Given the description of an element on the screen output the (x, y) to click on. 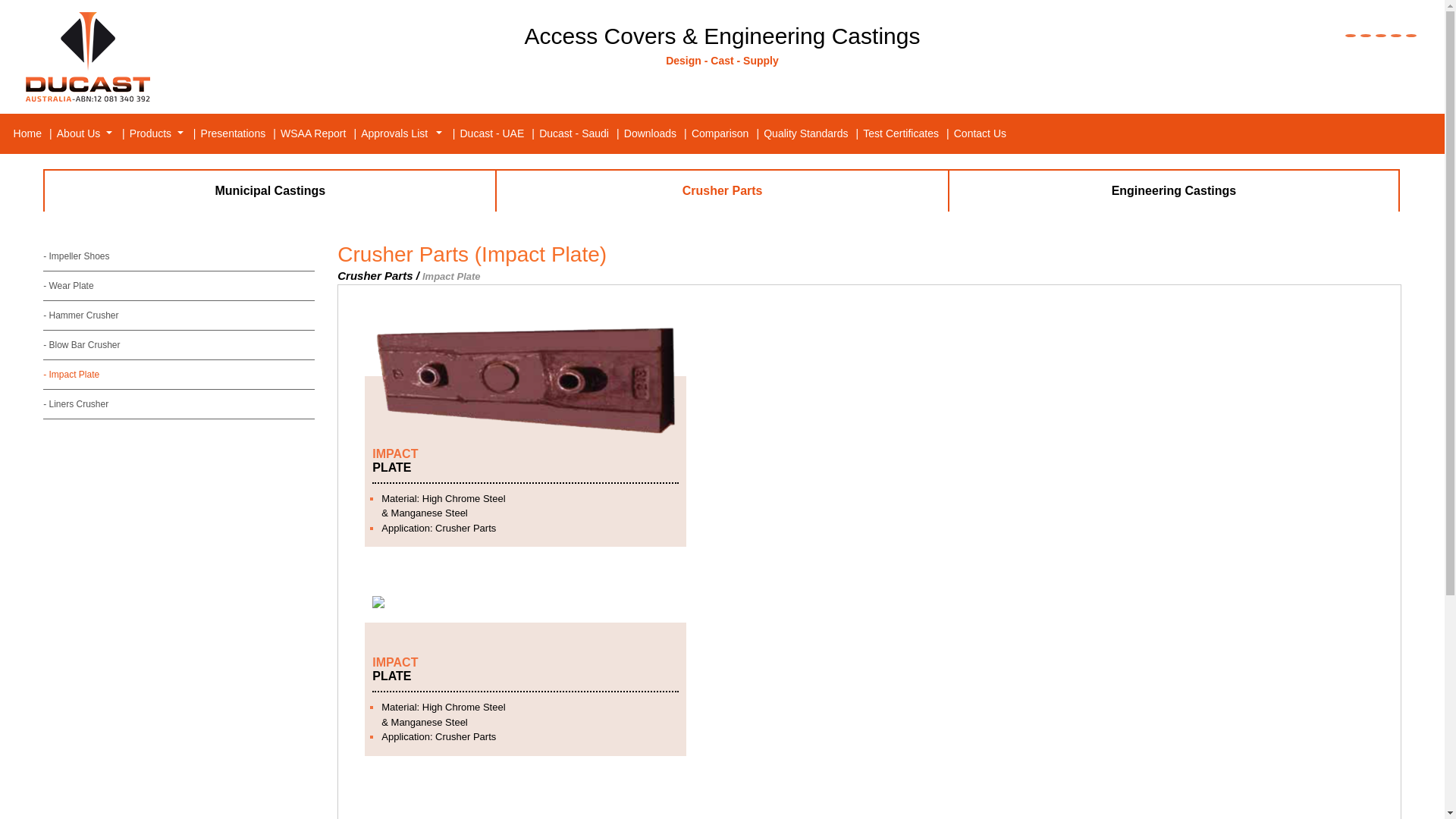
Crusher Parts Element type: text (722, 191)
Approvals List   Element type: text (401, 133)
| Element type: text (191, 133)
Home
(current)
| Element type: text (33, 133)
Contact Us Element type: text (979, 133)
- Liners Crusher Element type: text (178, 403)
Ducast - UAE| Element type: text (498, 133)
| Element type: text (450, 133)
Presentations| Element type: text (239, 133)
- Wear Plate Element type: text (178, 285)
- Impeller Shoes Element type: text (178, 255)
WSAA Report| Element type: text (319, 133)
Comparison| Element type: text (726, 133)
Downloads| Element type: text (656, 133)
Crusher Parts / Element type: text (378, 276)
Municipal Castings Element type: text (269, 191)
Ducast - Saudi| Element type: text (580, 133)
About Us Element type: text (83, 133)
Products Element type: text (156, 133)
- Impact Plate Element type: text (178, 374)
Quality Standards| Element type: text (812, 133)
- Hammer Crusher Element type: text (178, 315)
- Blow Bar Crusher Element type: text (178, 344)
Test Certificates| Element type: text (907, 133)
Engineering Castings Element type: text (1173, 191)
| Element type: text (120, 133)
